Given the description of an element on the screen output the (x, y) to click on. 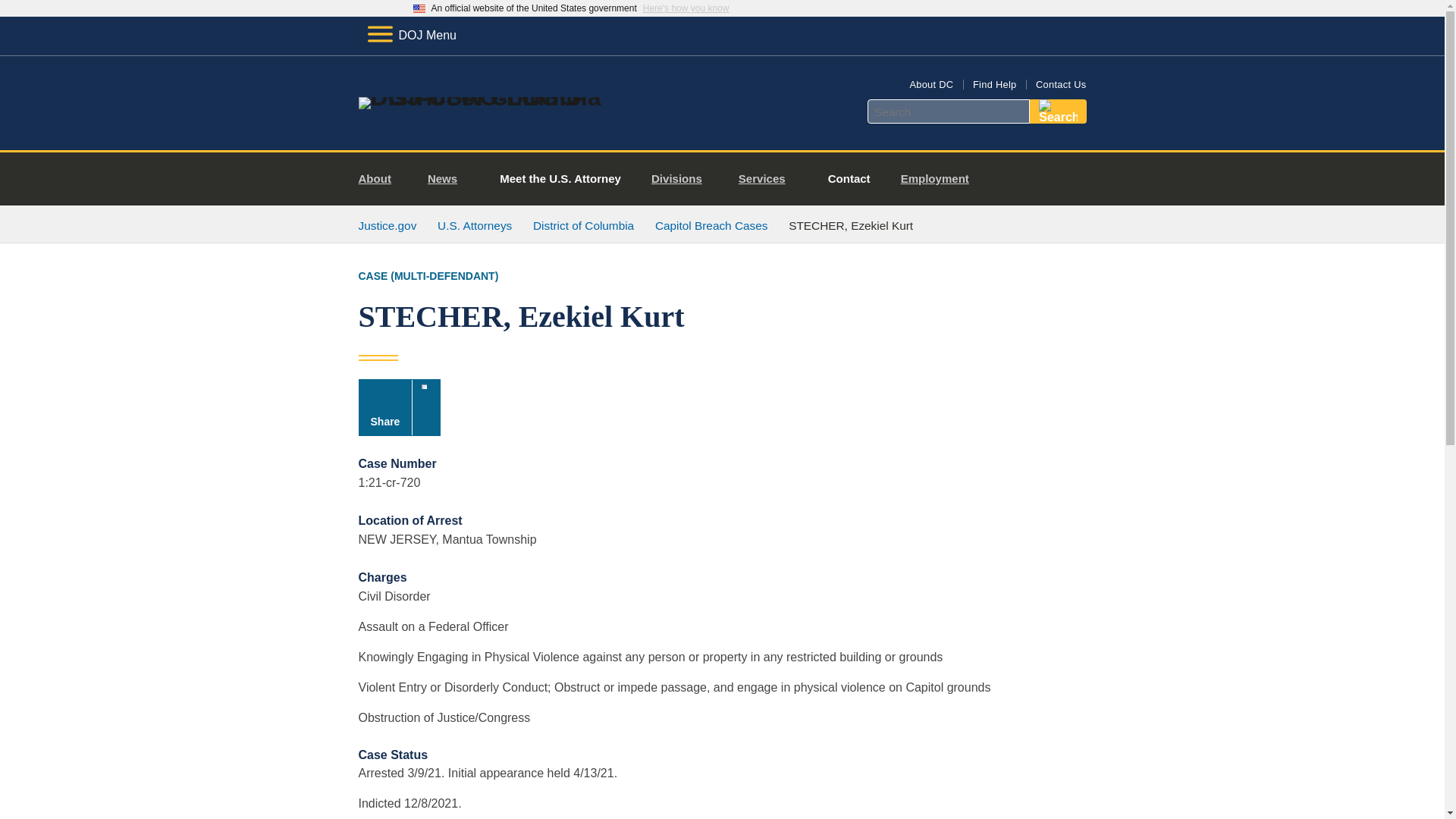
News (447, 179)
U.S. Attorneys (475, 225)
Meet the U.S. Attorney (560, 179)
District of Columbia (582, 225)
About DC (930, 84)
Justice.gov (387, 225)
Contact Us (1060, 84)
Employment (940, 179)
Find Help (994, 84)
Home (481, 96)
Services (767, 179)
Contact (848, 179)
About (380, 179)
Divisions (682, 179)
DOJ Menu (411, 35)
